Given the description of an element on the screen output the (x, y) to click on. 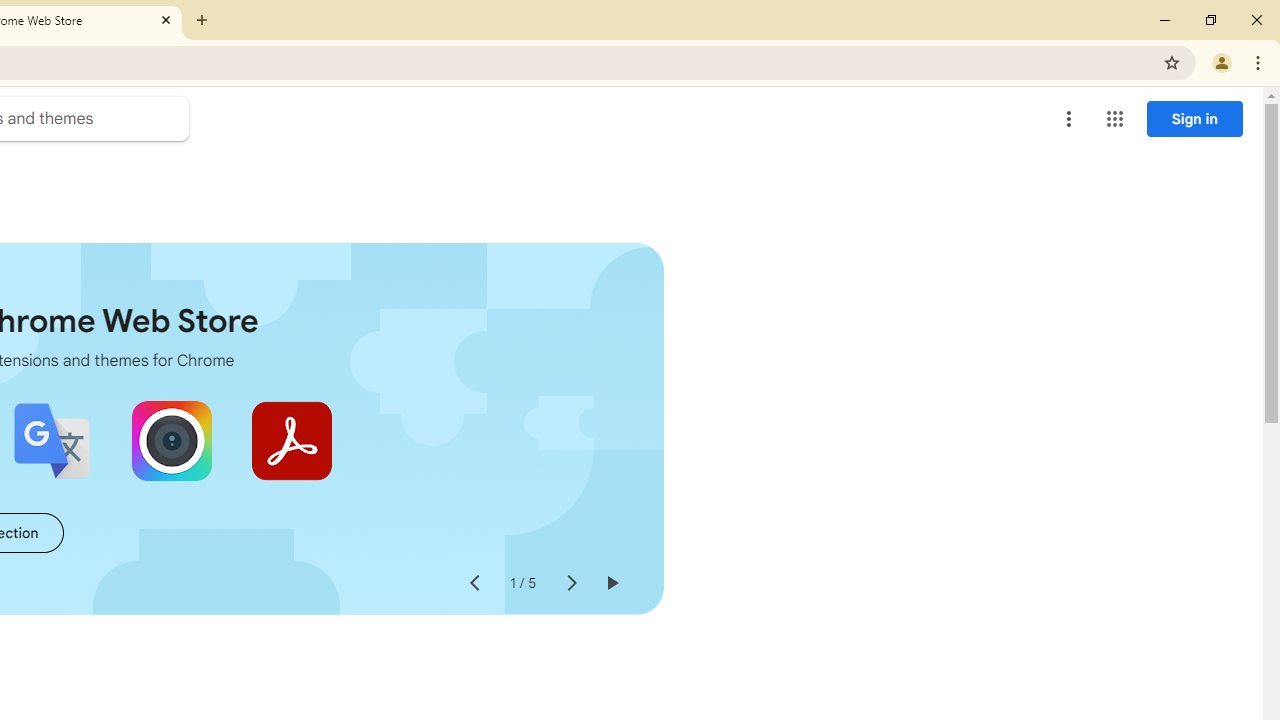
Adobe Acrobat: PDF edit, convert, sign tools (291, 440)
More options menu (1069, 118)
Awesome Screen Recorder & Screenshot (171, 440)
Resume auto-play (611, 583)
Previous slide (474, 583)
Google apps (1114, 118)
